Given the description of an element on the screen output the (x, y) to click on. 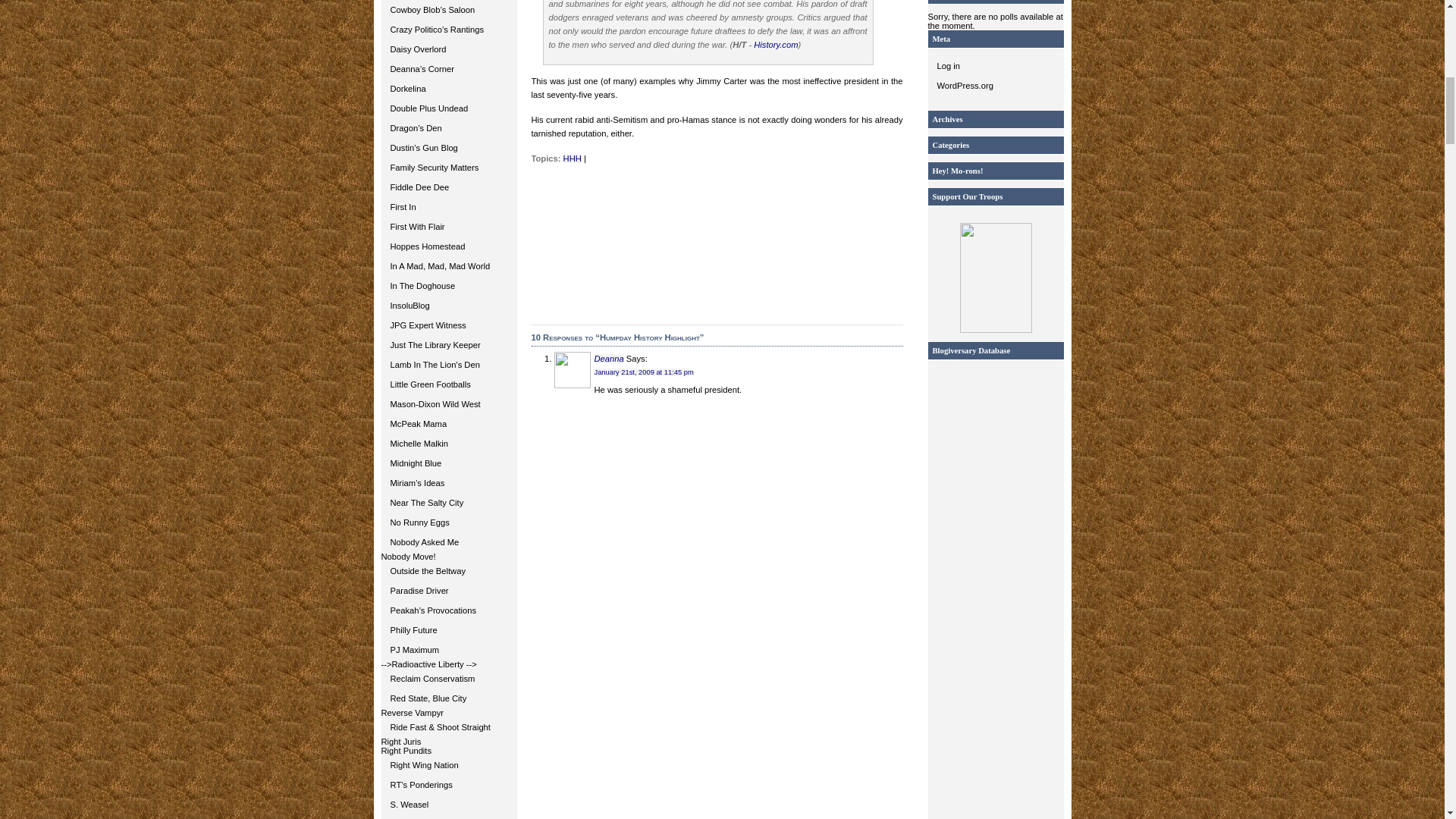
Desert Sharpshooter (448, 9)
Family Security Matters (448, 167)
Double Plus Undead (448, 107)
Mississippi Queen (448, 68)
First In (448, 207)
Dorkelina (448, 88)
Hoppes Homestead (448, 246)
First With Flair (448, 226)
Just The Library Keeper (448, 344)
The Other Side Of Dorkelina (448, 48)
Fiddle Dee Dee (448, 187)
InsoluBlog (448, 305)
JPG Expert Witness (448, 324)
Daisy Overlord (448, 48)
In The Doghouse (448, 285)
